Given the description of an element on the screen output the (x, y) to click on. 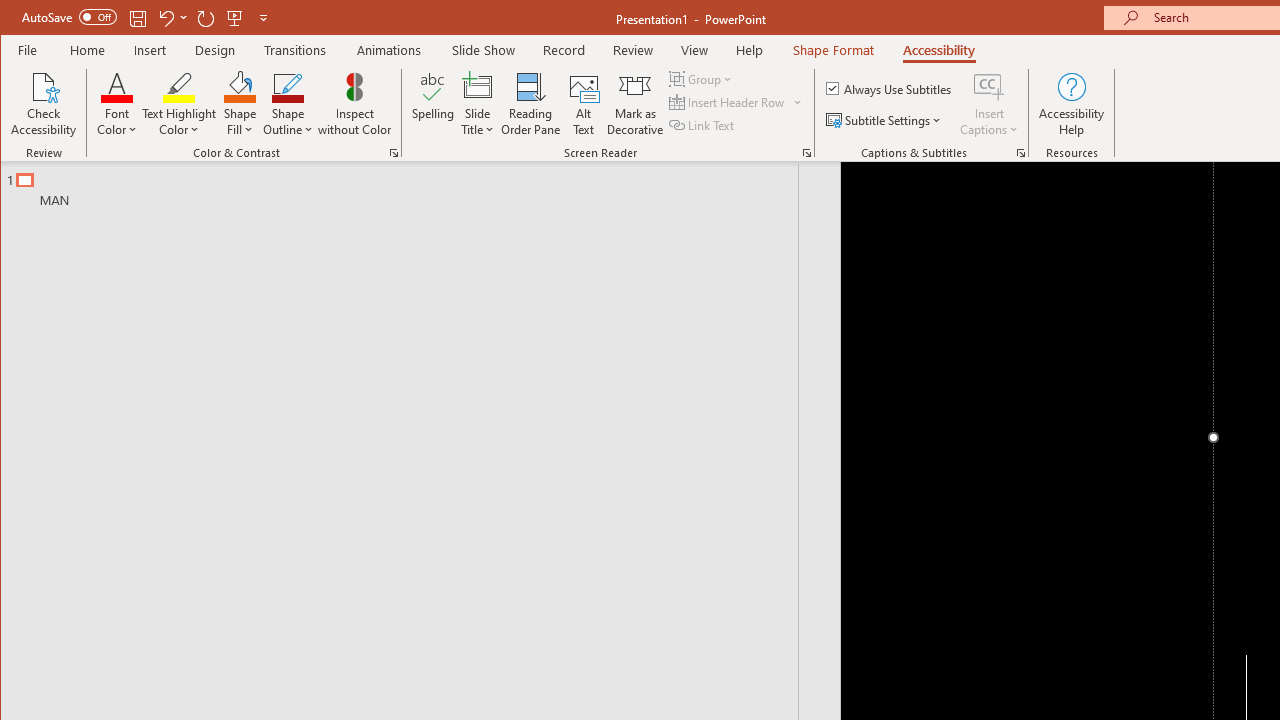
Shape Outline (288, 104)
Link Text (703, 124)
Font Color Red (116, 86)
Captions & Subtitles (1020, 152)
Shape Outline Blue, Accent 1 (288, 86)
Slide Title (477, 86)
Screen Reader (806, 152)
